Given the description of an element on the screen output the (x, y) to click on. 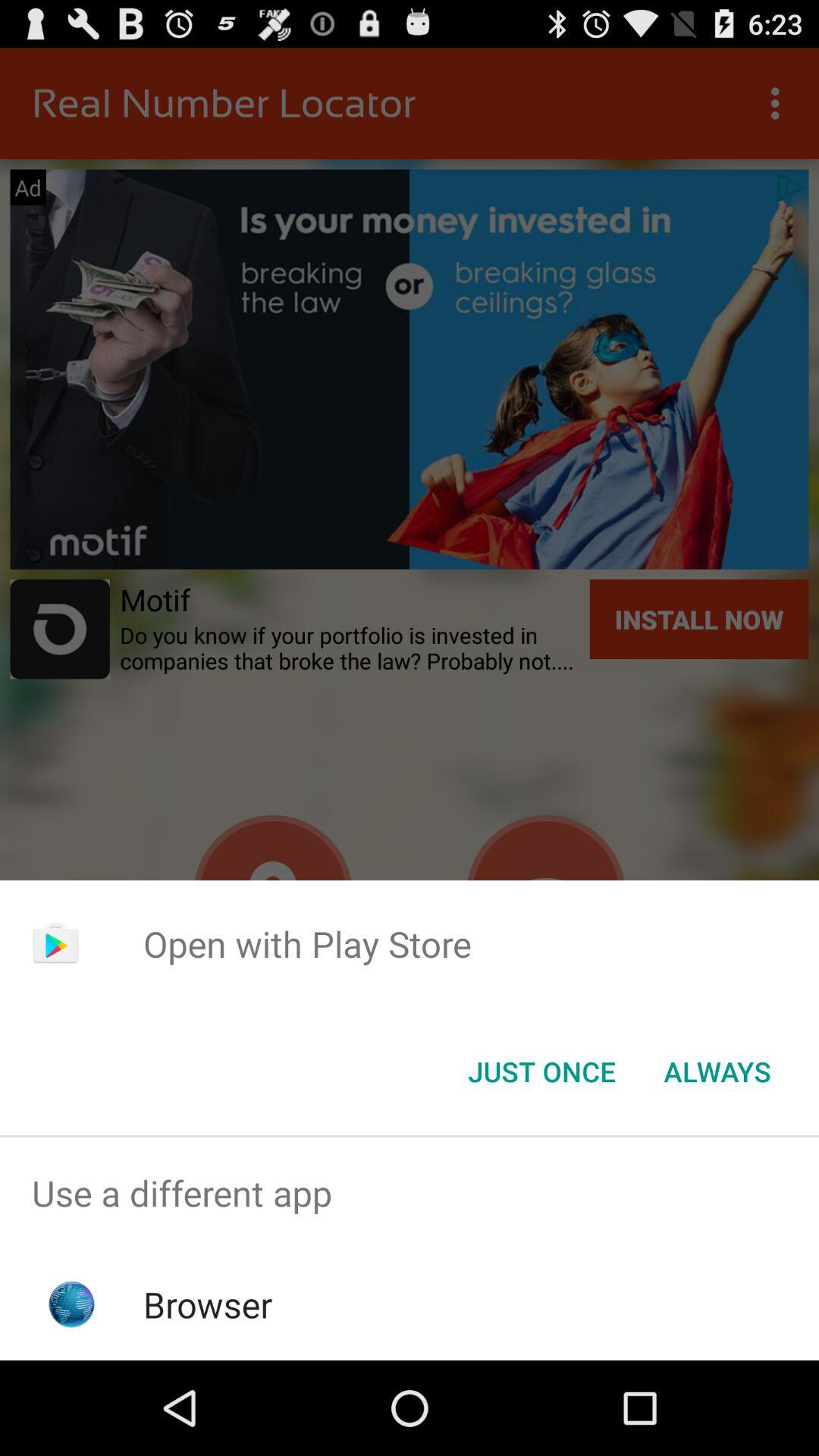
choose the always button (717, 1071)
